Given the description of an element on the screen output the (x, y) to click on. 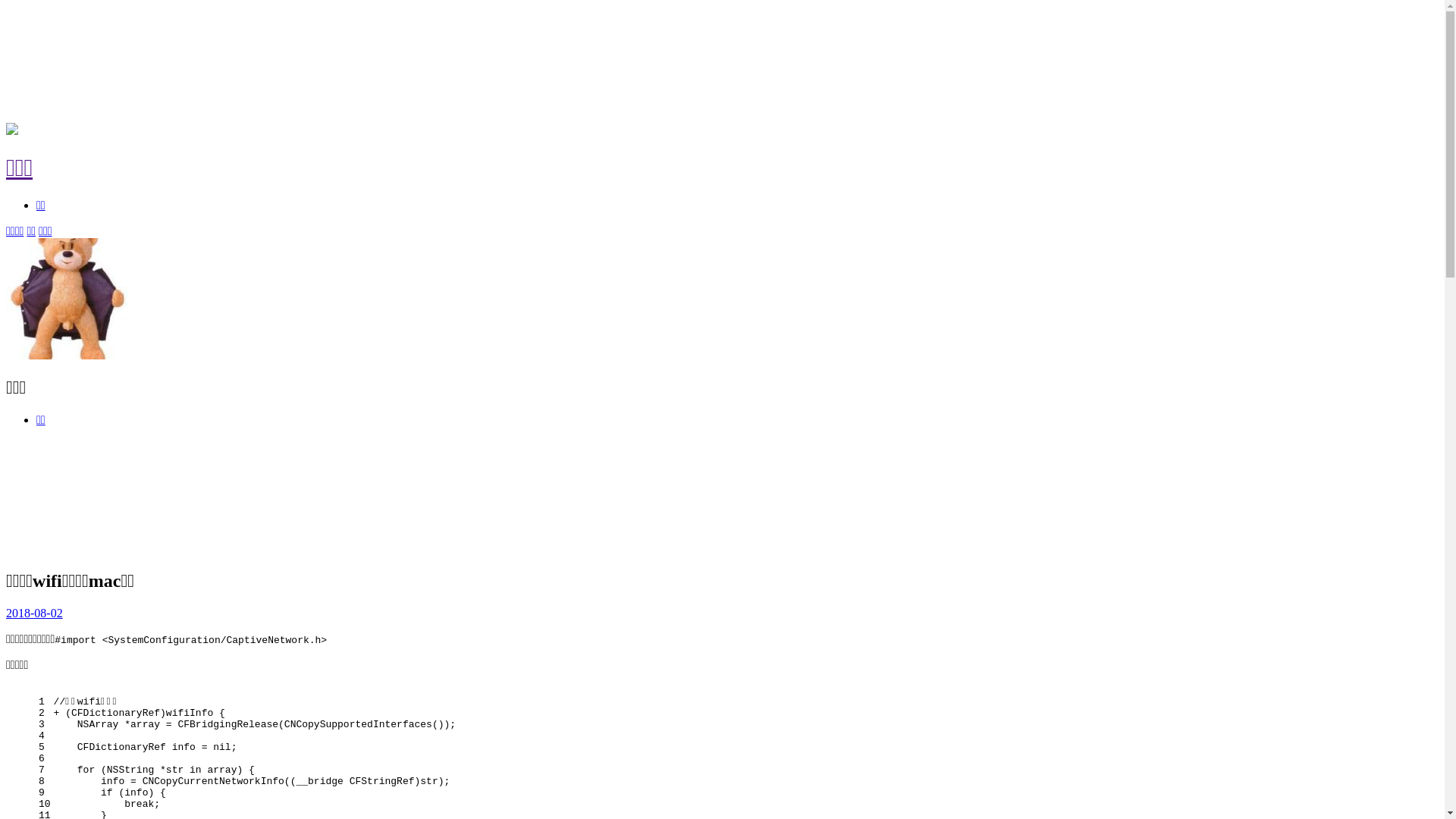
2018-08-02 Element type: text (34, 612)
